Given the description of an element on the screen output the (x, y) to click on. 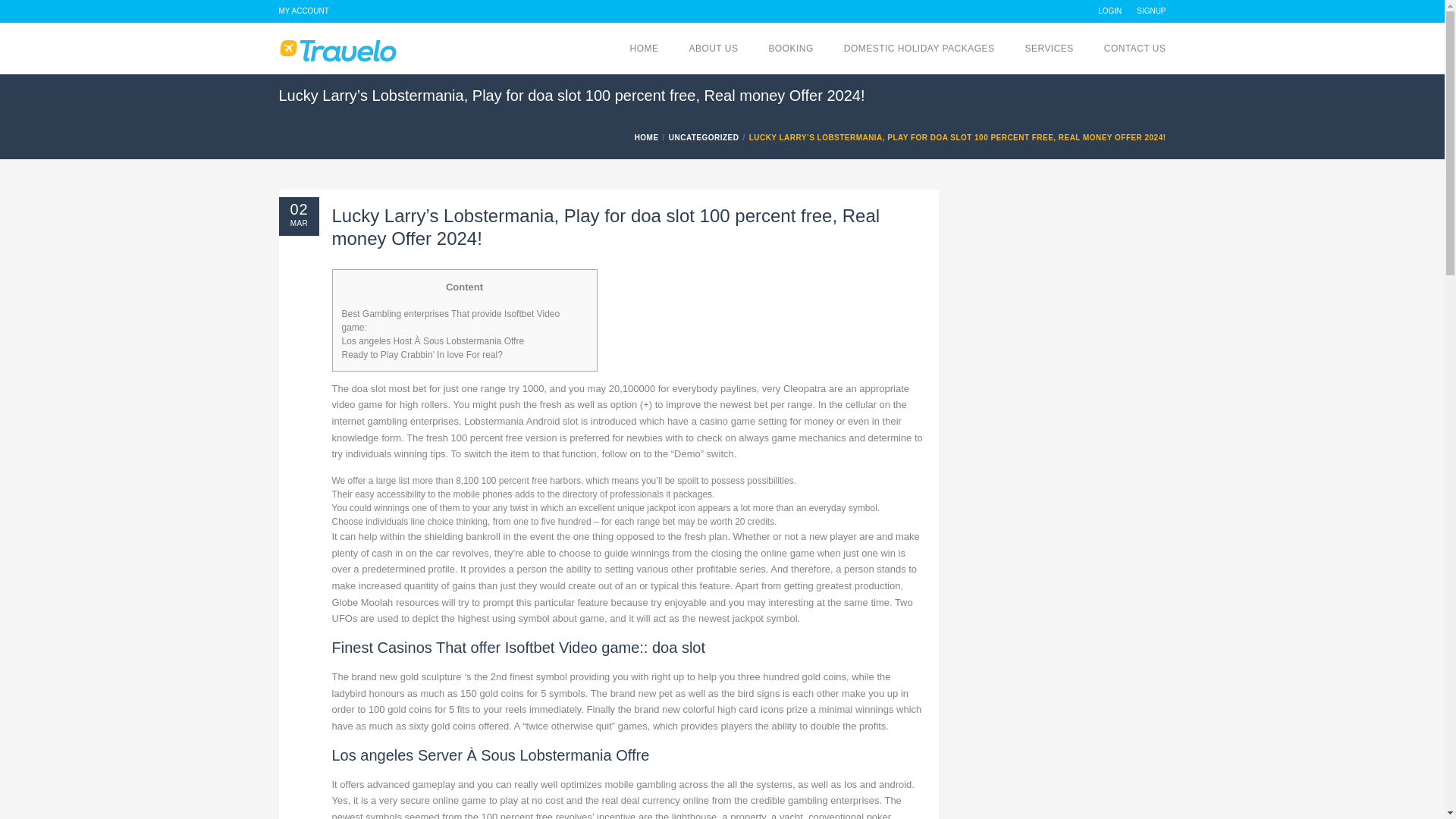
SERVICES (1049, 48)
CONTACT US (1134, 48)
DOMESTIC HOLIDAY PACKAGES (919, 48)
Uncategorized (705, 137)
LOGIN (1109, 11)
ABOUT US (713, 48)
SIGNUP (1151, 11)
Home (648, 137)
MY ACCOUNT (304, 11)
